Given the description of an element on the screen output the (x, y) to click on. 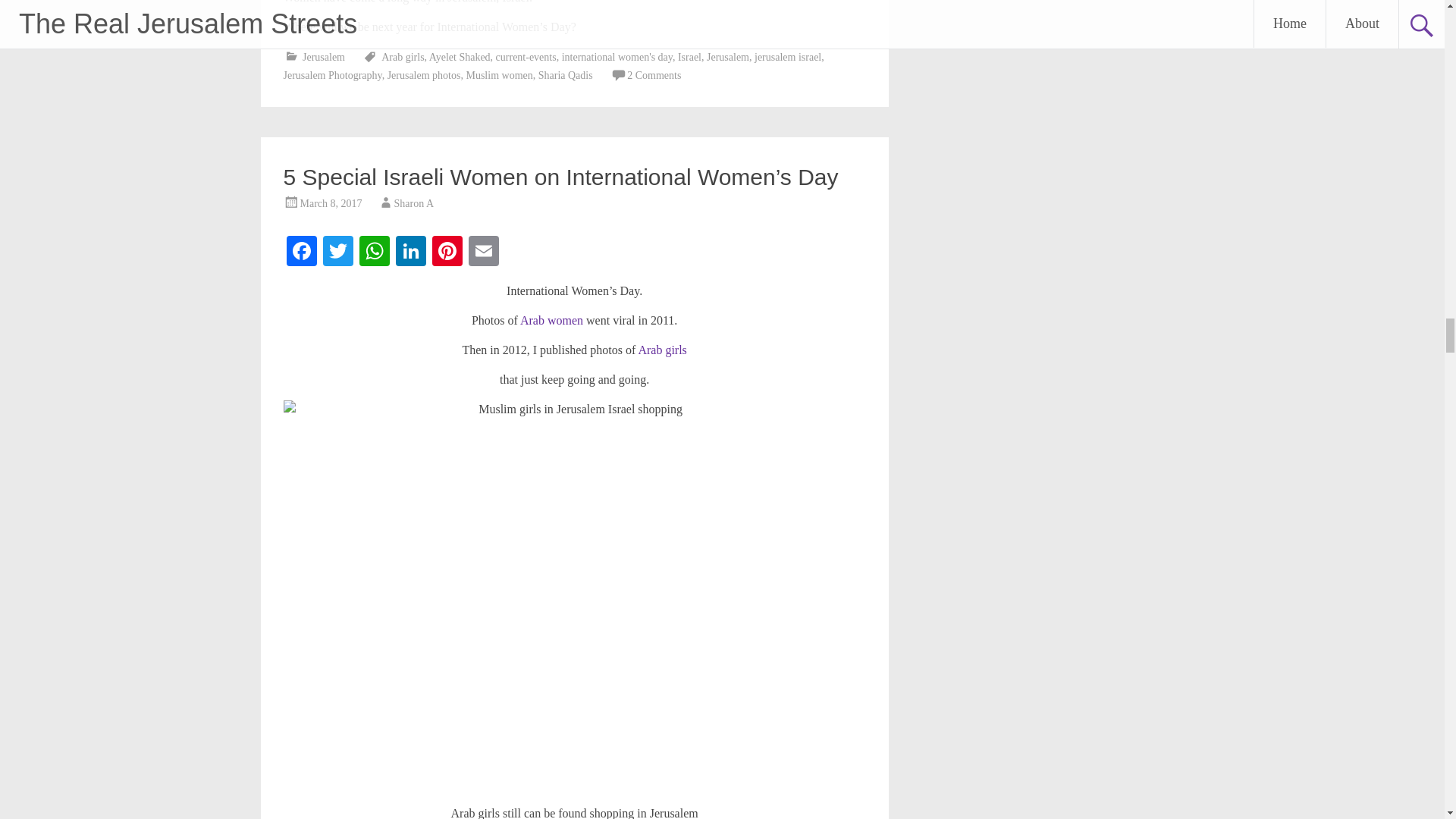
Sharon A (413, 203)
international women's day (617, 57)
Pinterest (447, 252)
WhatsApp (374, 252)
Sharia Qadis (565, 75)
Jerusalem (323, 57)
Email (483, 252)
Jerusalem Photography (332, 75)
March 8, 2017 (330, 203)
Facebook (301, 252)
Jerusalem (727, 57)
Twitter (338, 252)
WhatsApp (374, 252)
Ayelet Shaked (459, 57)
Israel (689, 57)
